Given the description of an element on the screen output the (x, y) to click on. 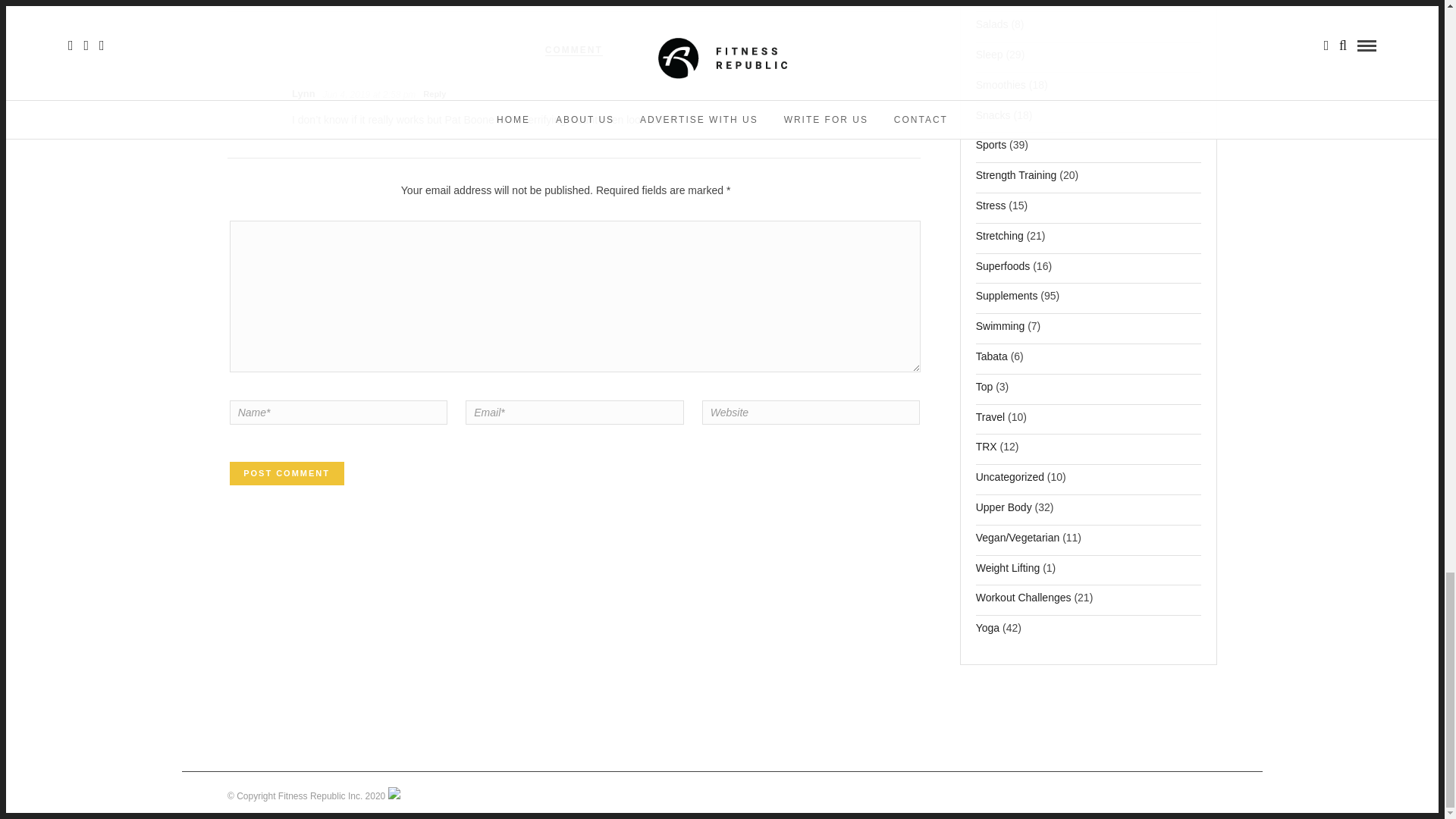
Post Comment (286, 473)
Reply (434, 93)
Post Comment (286, 473)
